Given the description of an element on the screen output the (x, y) to click on. 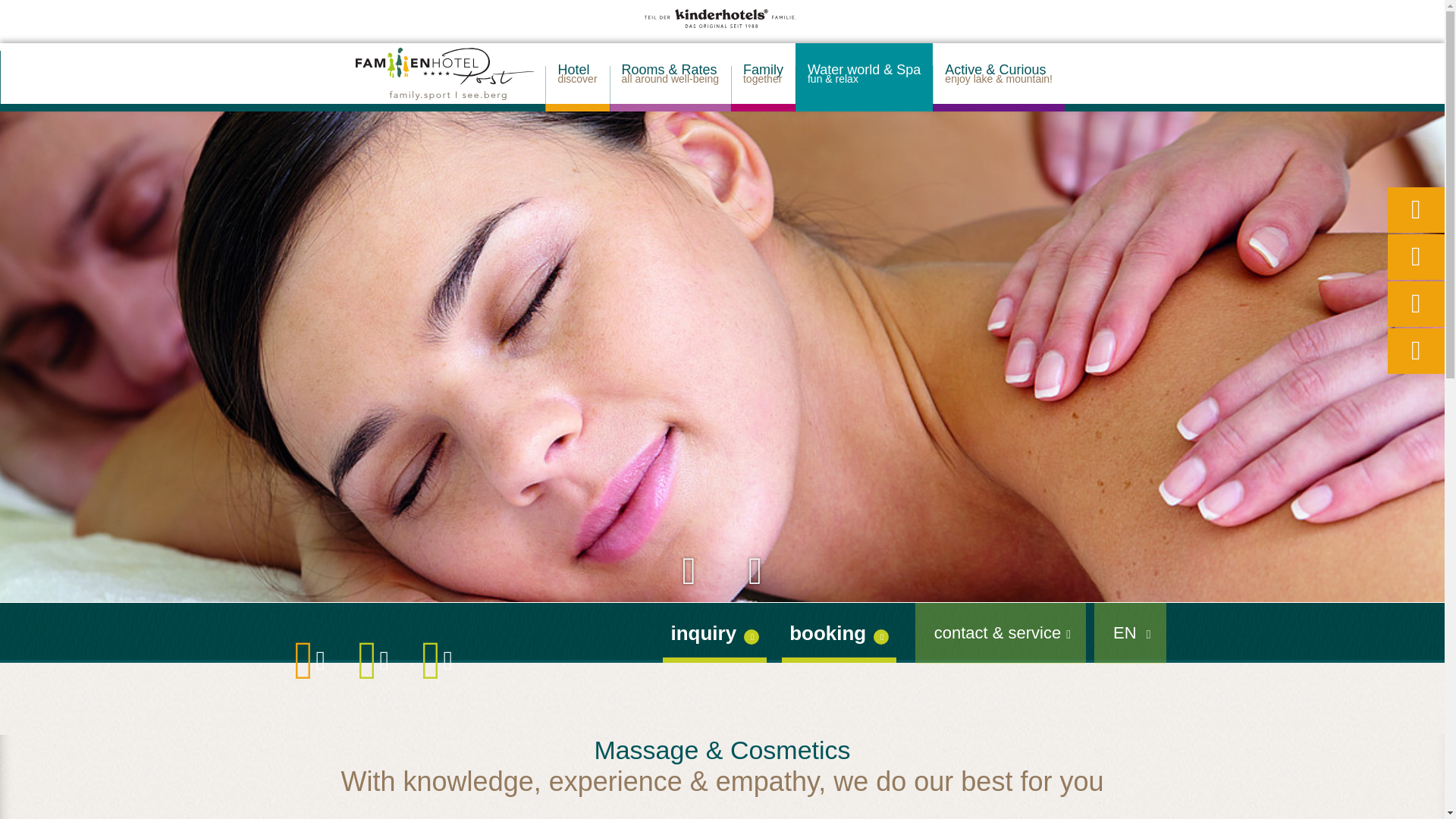
Hotel (762, 77)
